Given the description of an element on the screen output the (x, y) to click on. 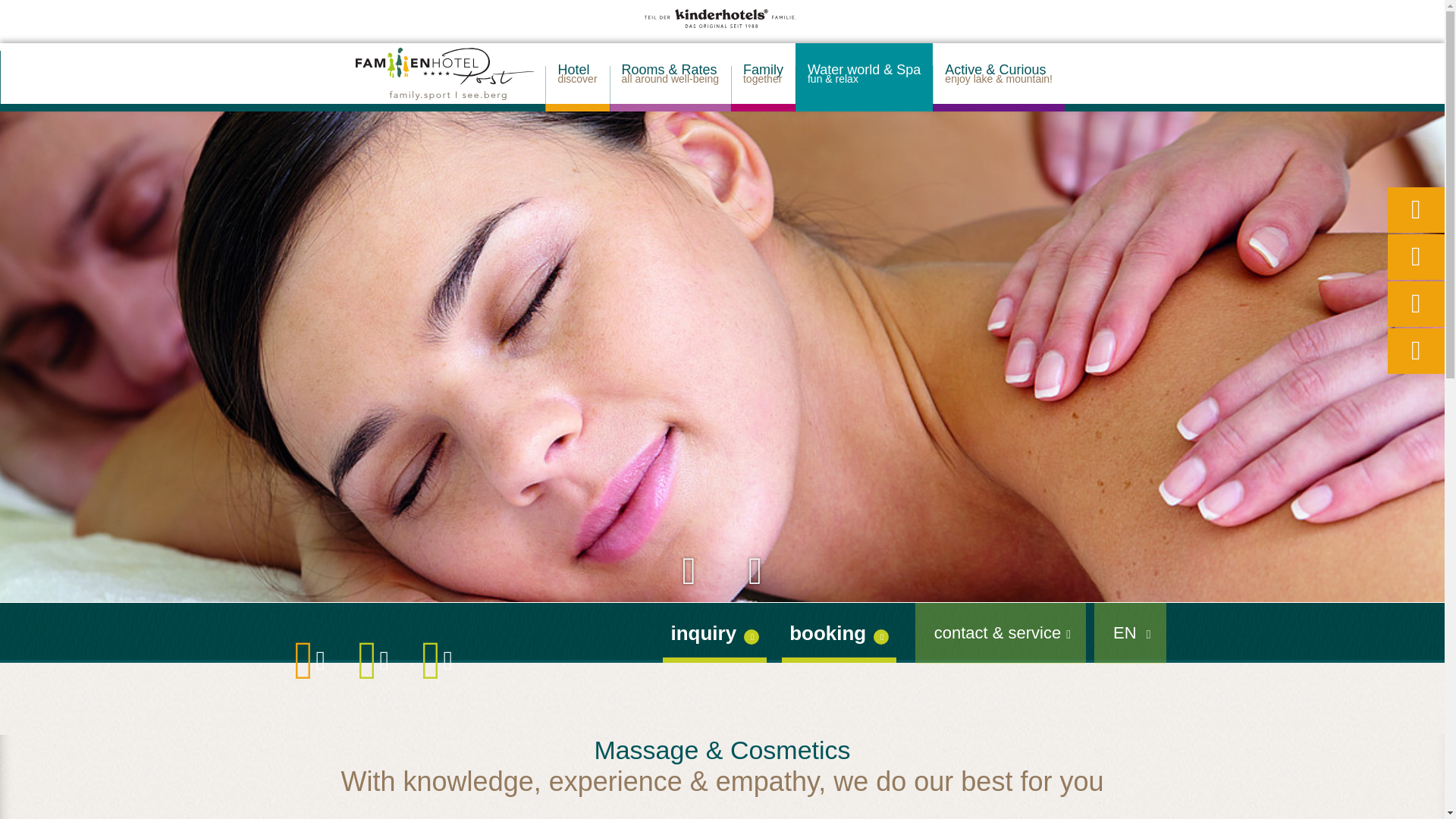
Hotel (762, 77)
